Given the description of an element on the screen output the (x, y) to click on. 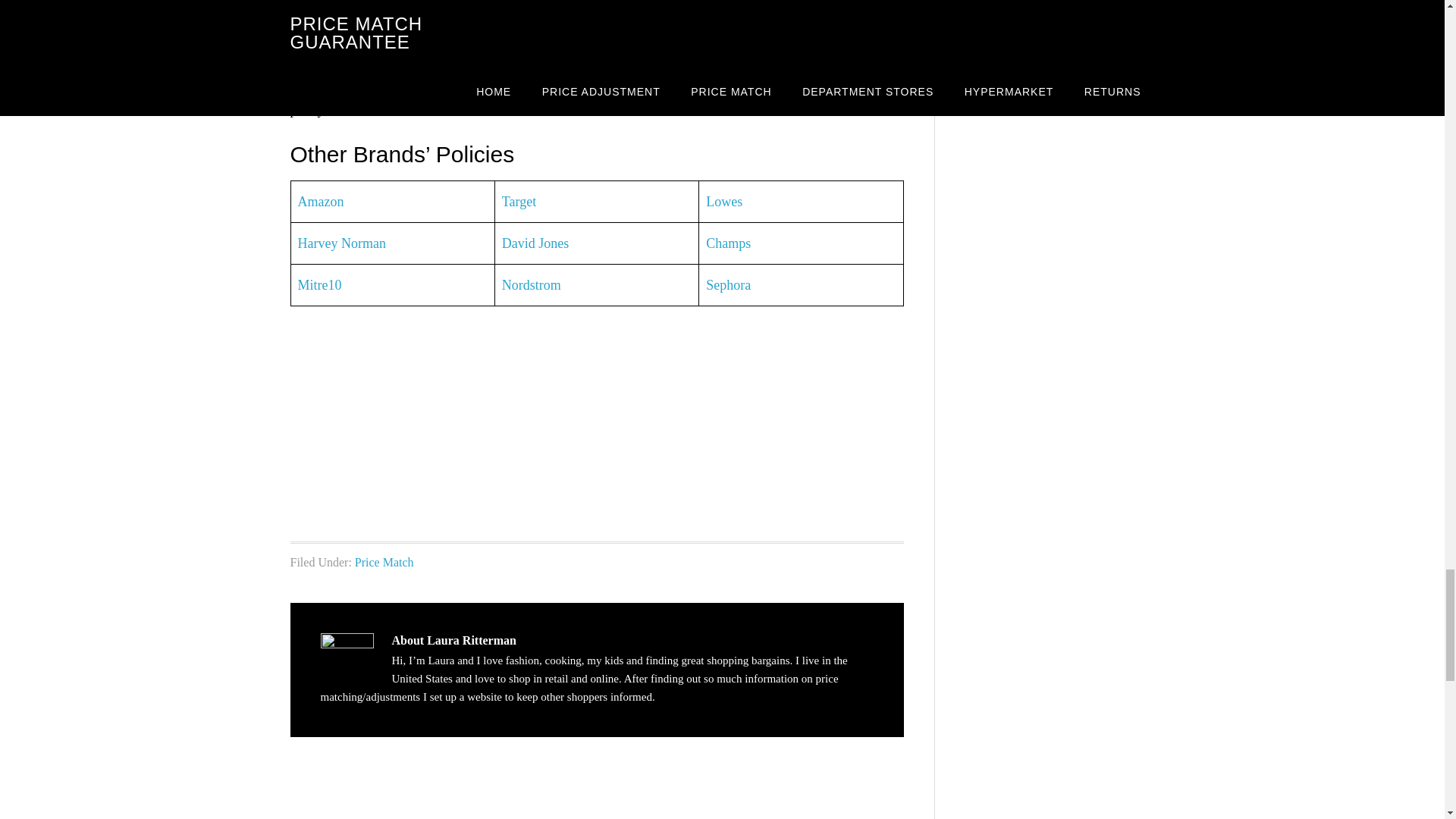
Harvey Norman (341, 242)
Price Match (384, 562)
David Jones (535, 242)
Mitre10 (318, 284)
Champs (728, 242)
Lowes (724, 201)
Nordstrom (531, 284)
Sephora (728, 284)
Amazon (320, 201)
Target (518, 201)
